Given the description of an element on the screen output the (x, y) to click on. 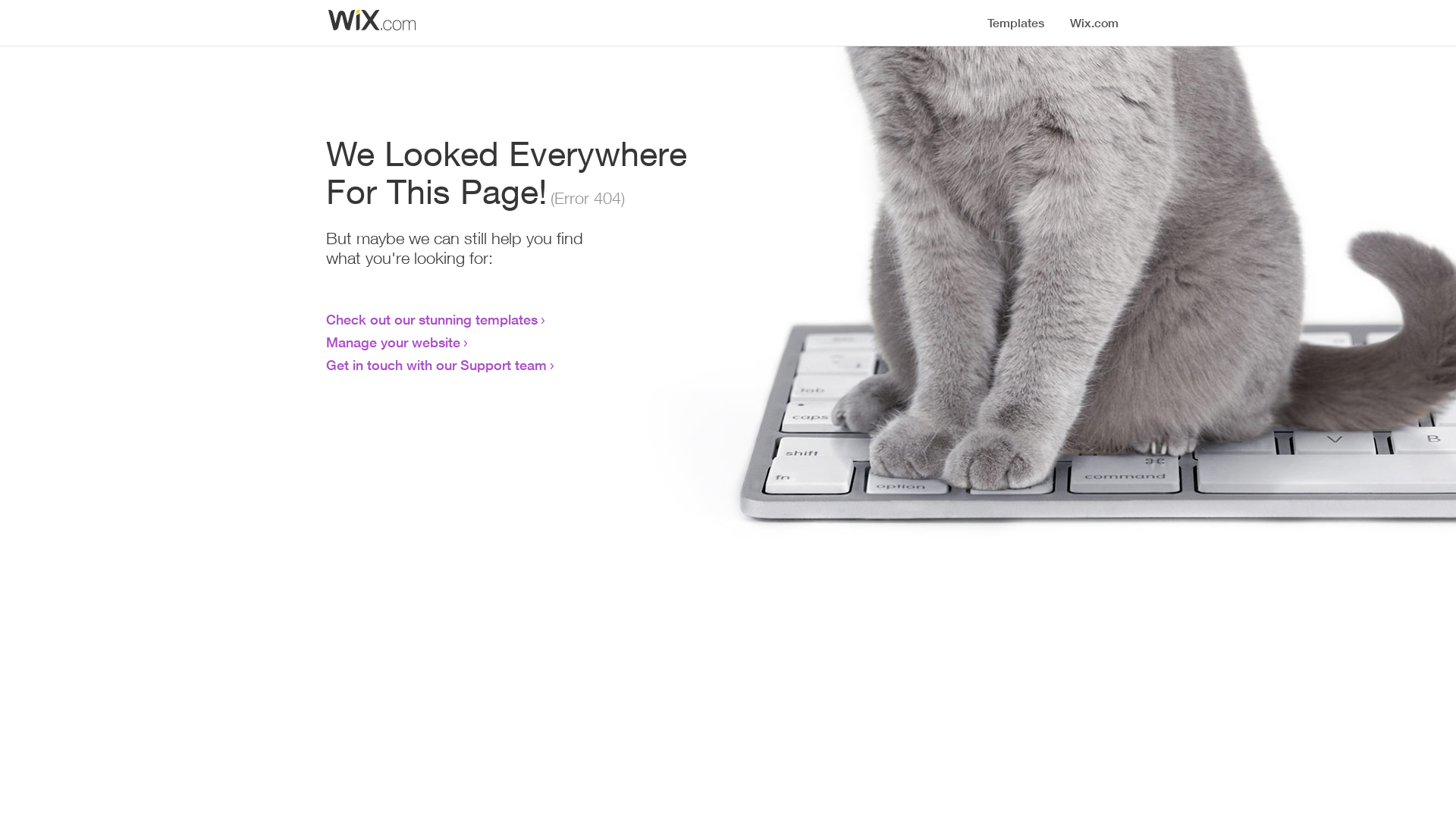
Get in touch with our Support team Element type: text (436, 364)
Check out our stunning templates Element type: text (431, 318)
Manage your website Element type: text (393, 341)
